Given the description of an element on the screen output the (x, y) to click on. 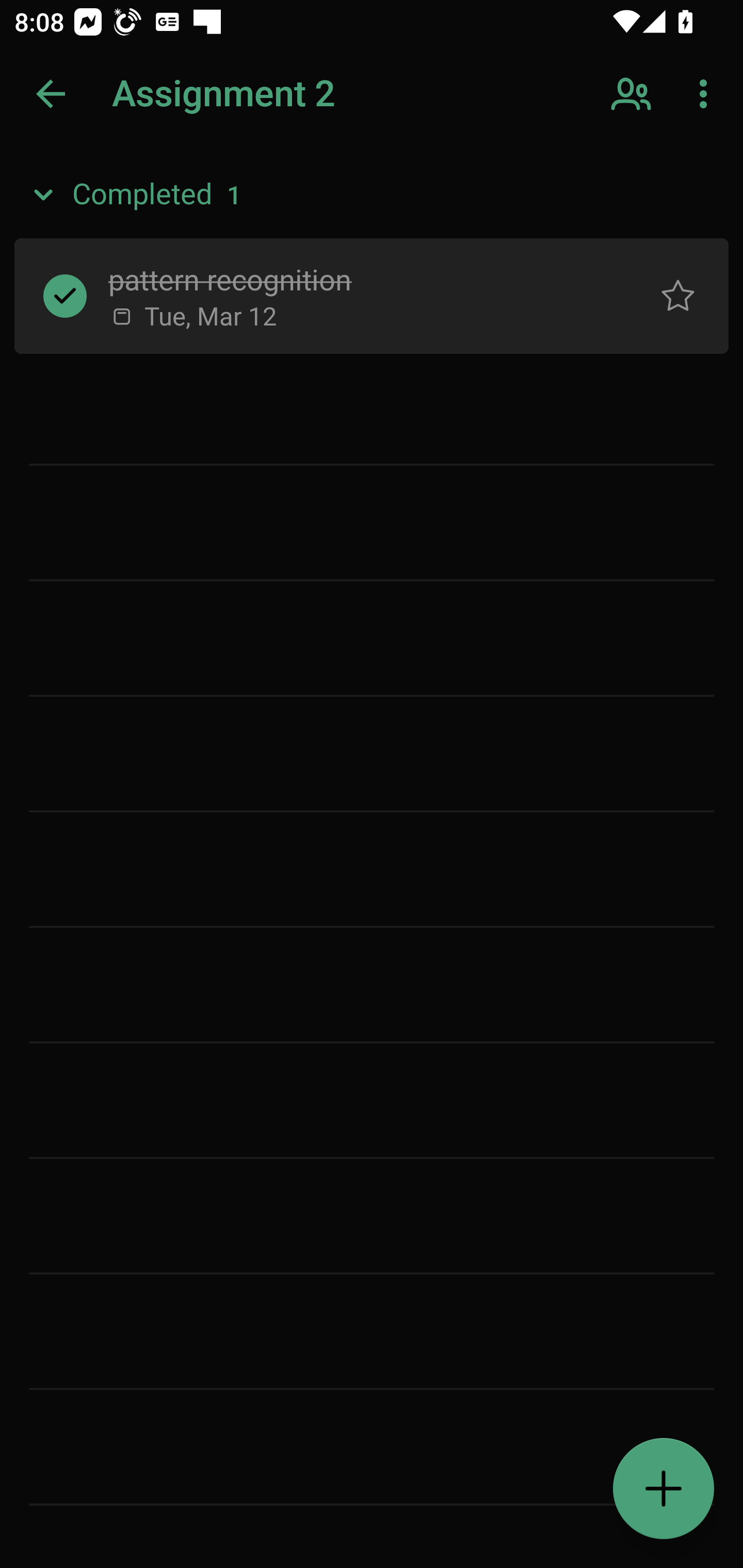
Back (50, 93)
Sharing options (632, 93)
More options (706, 93)
Completed, 1 item, Expanded Completed 1 (371, 195)
Completed task pattern recognition, Button (64, 295)
Normal task pattern recognition, Button (677, 295)
pattern recognition (356, 277)
Add a task (663, 1488)
